Given the description of an element on the screen output the (x, y) to click on. 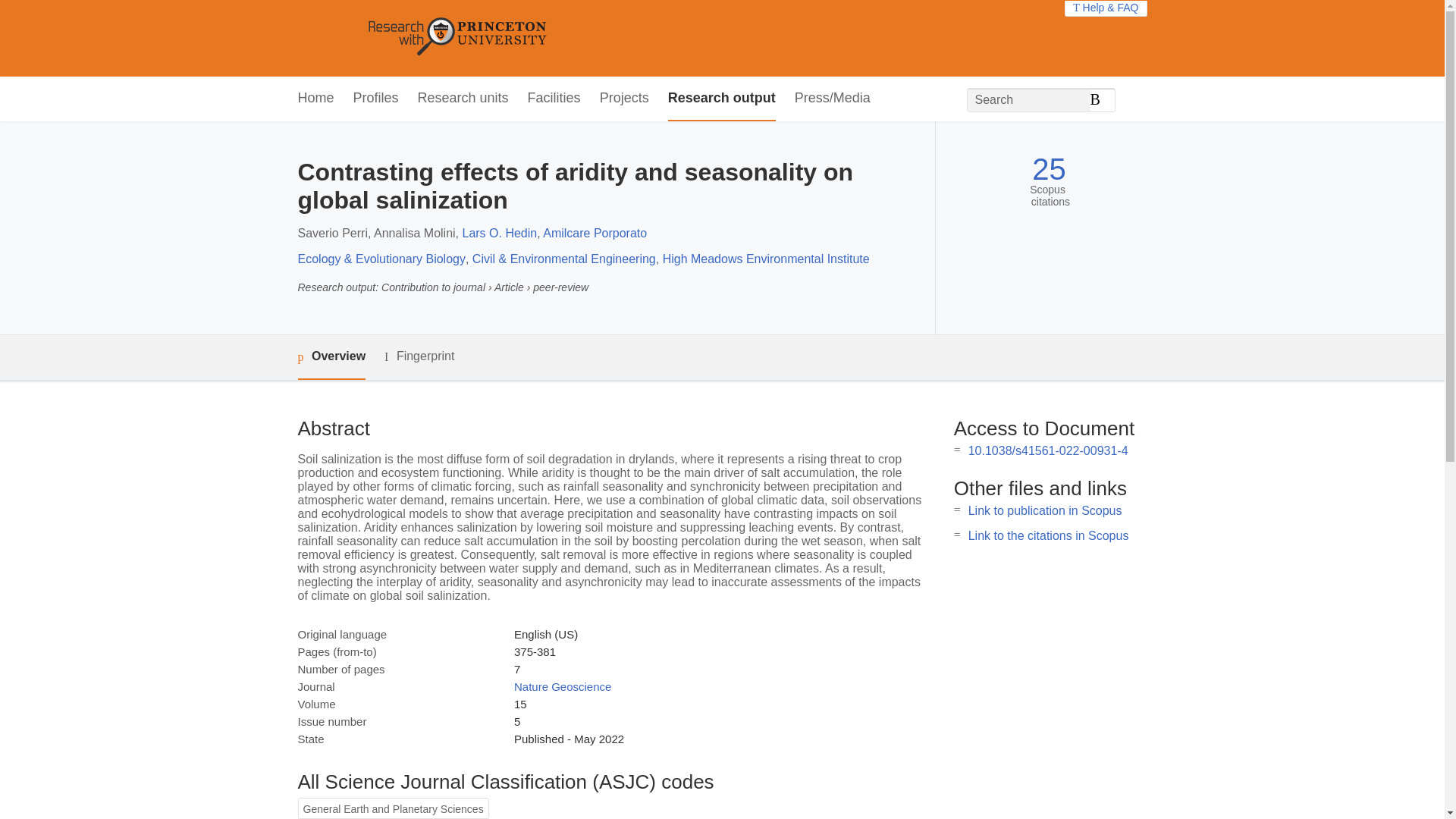
Lars O. Hedin (499, 232)
Profiles (375, 98)
Projects (624, 98)
Link to the citations in Scopus (1048, 535)
Amilcare Porporato (594, 232)
Overview (331, 357)
25 (1048, 169)
Research output (722, 98)
Research units (462, 98)
Facilities (553, 98)
Princeton University Home (567, 38)
Link to publication in Scopus (1045, 510)
Fingerprint (419, 356)
Nature Geoscience (562, 686)
